Given the description of an element on the screen output the (x, y) to click on. 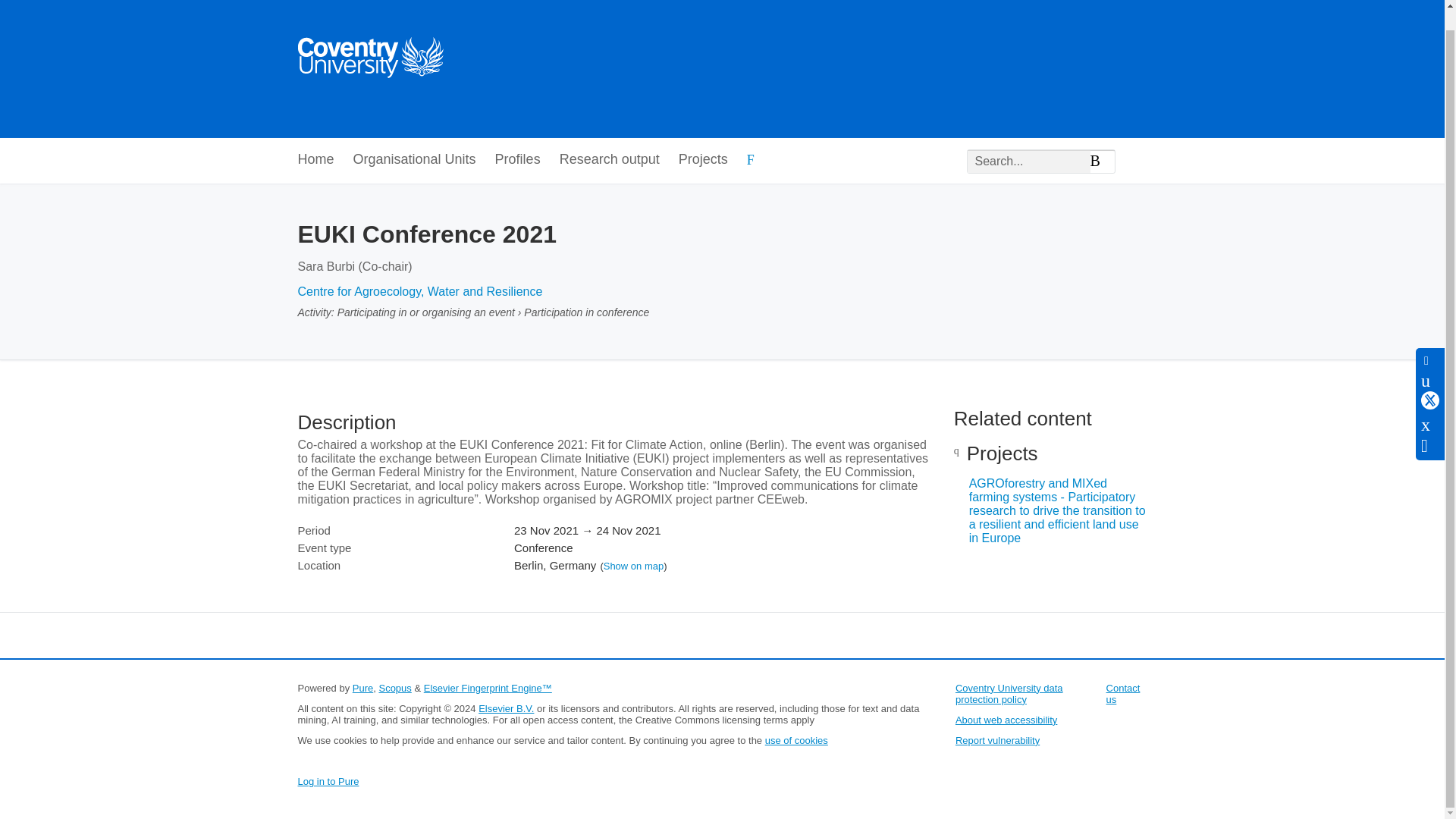
Elsevier B.V. (506, 708)
Centre for Agroecology, Water and Resilience (419, 291)
Coventry University Home (369, 61)
Projects (703, 160)
Log in to Pure (327, 781)
Organisational Units (414, 160)
Report vulnerability (997, 740)
Scopus (394, 687)
Show on map (633, 565)
